Given the description of an element on the screen output the (x, y) to click on. 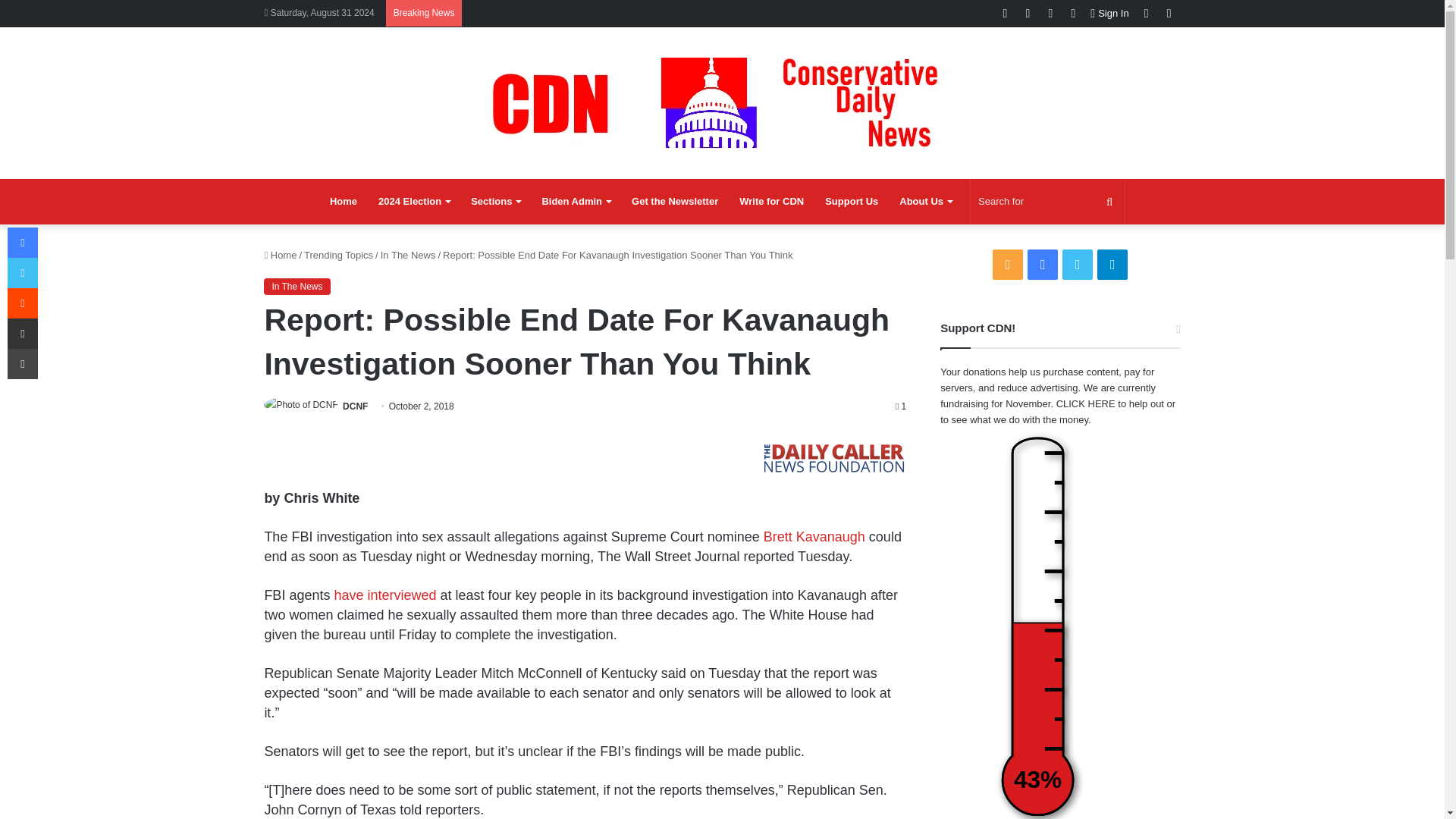
Get the Newsletter (675, 201)
Conservative Daily News (721, 102)
Become a CDN Contributor (771, 201)
2024 Election (414, 201)
Home (343, 201)
Biden Admin (576, 201)
Search for (1047, 201)
DCNF (355, 406)
Sections (495, 201)
Support CDN With a Small Donation (850, 201)
